Given the description of an element on the screen output the (x, y) to click on. 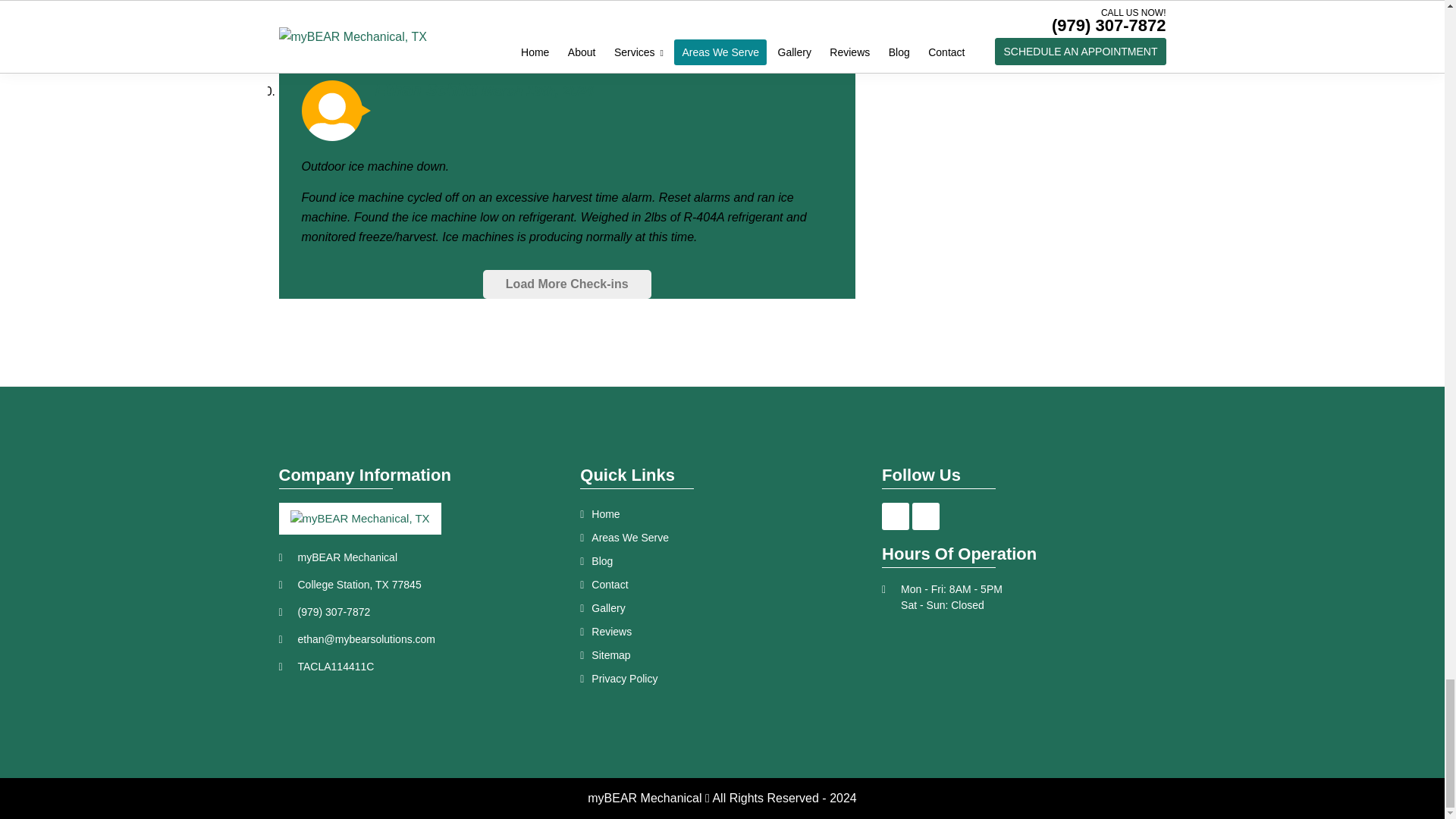
Home (721, 514)
Contact (721, 585)
Areas We Serve (721, 537)
Gallery (721, 608)
Privacy Policy (721, 679)
Sitemap (721, 655)
Blog (721, 561)
Load More Check-ins (566, 284)
Reviews (721, 631)
